Given the description of an element on the screen output the (x, y) to click on. 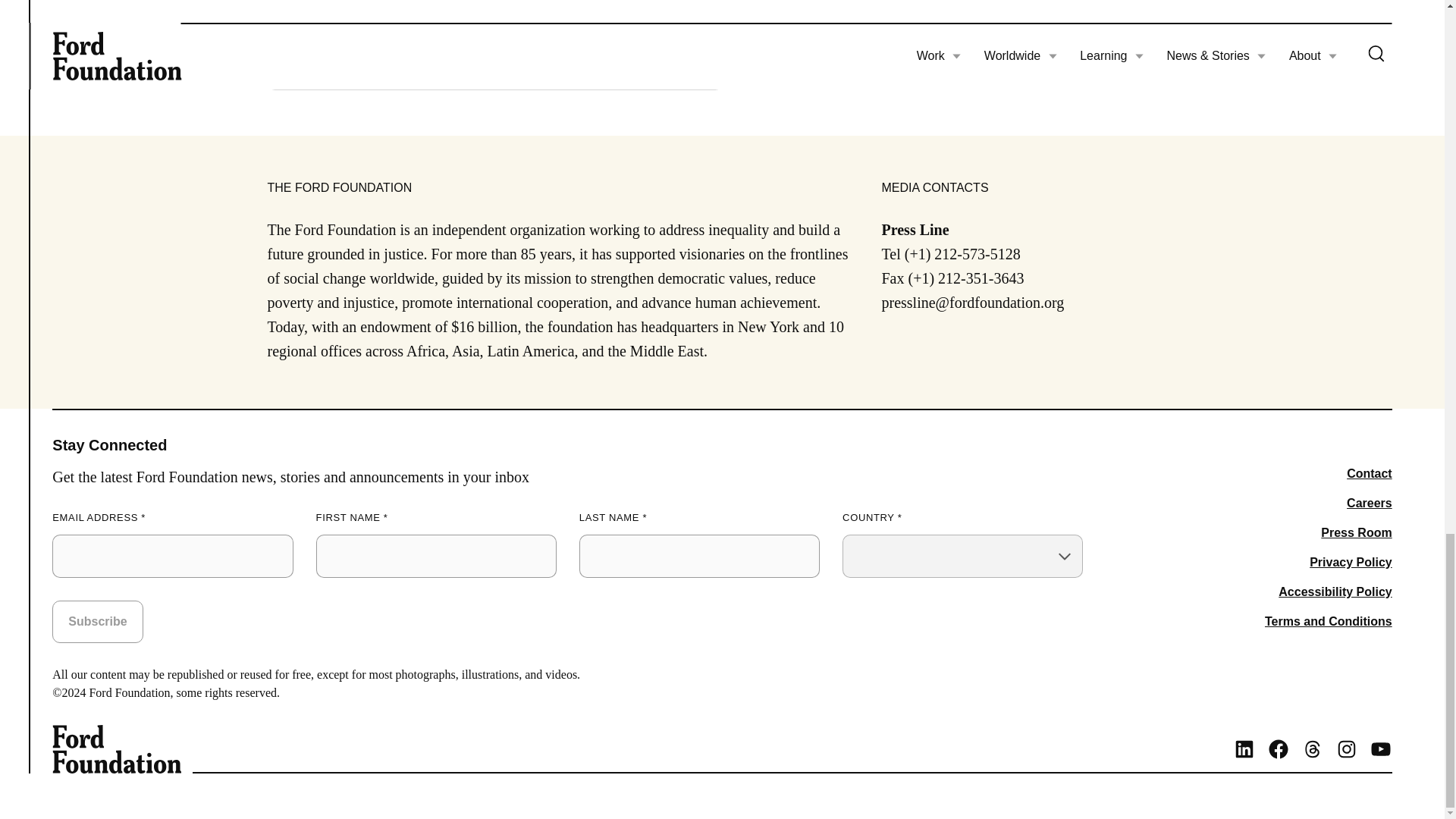
Information (291, 64)
Subscribe (97, 621)
Welcome to The Just City (721, 9)
